Given the description of an element on the screen output the (x, y) to click on. 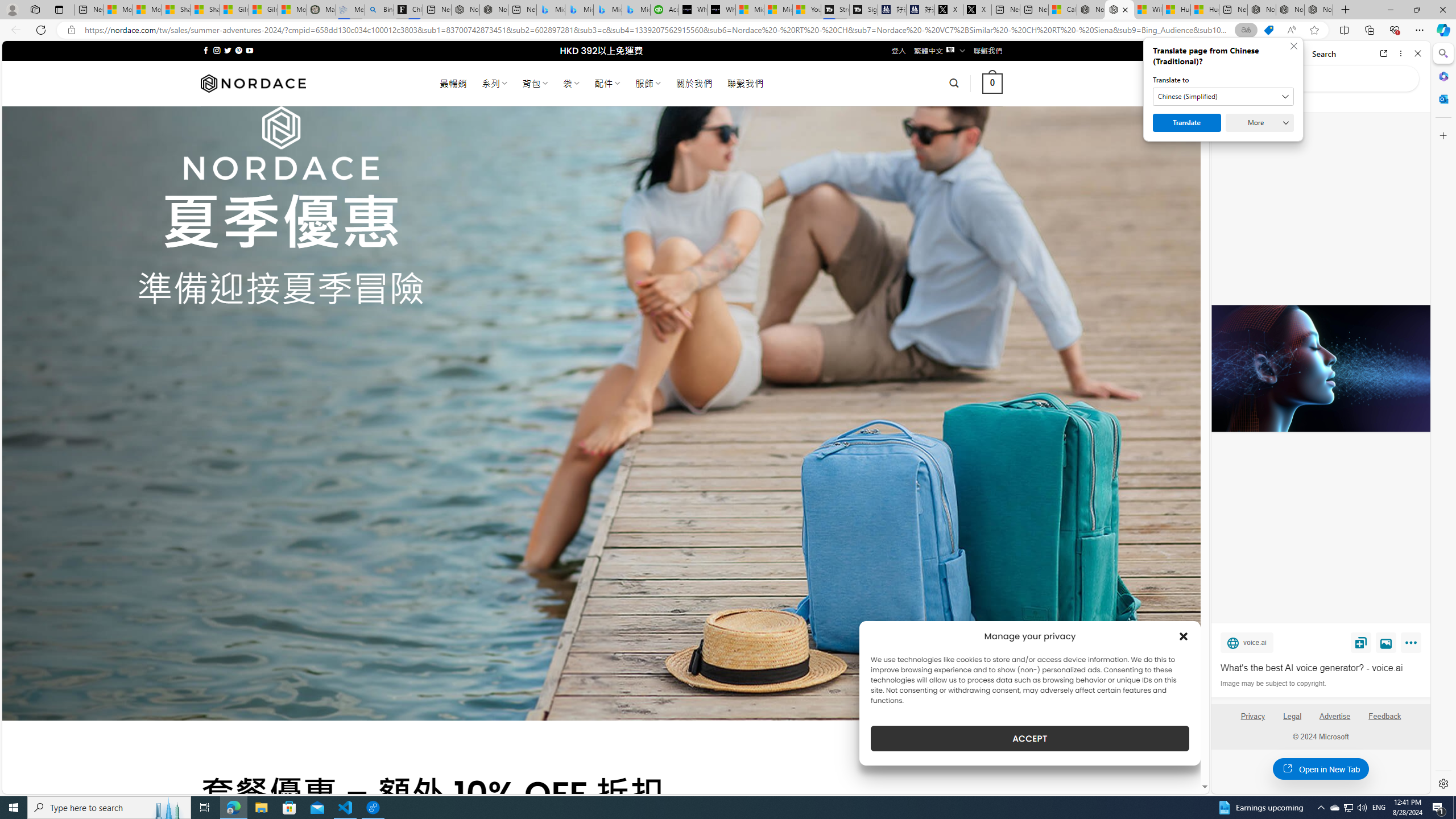
Legal (1292, 720)
Browser essentials (1394, 29)
View image (1385, 642)
What's the best AI voice generator? - voice.ai (721, 9)
Huge shark washes ashore at New York City beach | Watch (1204, 9)
Search (1442, 53)
Add this page to favorites (Ctrl+D) (1314, 29)
Refresh (40, 29)
What's the best AI voice generator? - voice.ai (1320, 368)
Open in New Tab (1321, 768)
Side bar (1443, 418)
